Given the description of an element on the screen output the (x, y) to click on. 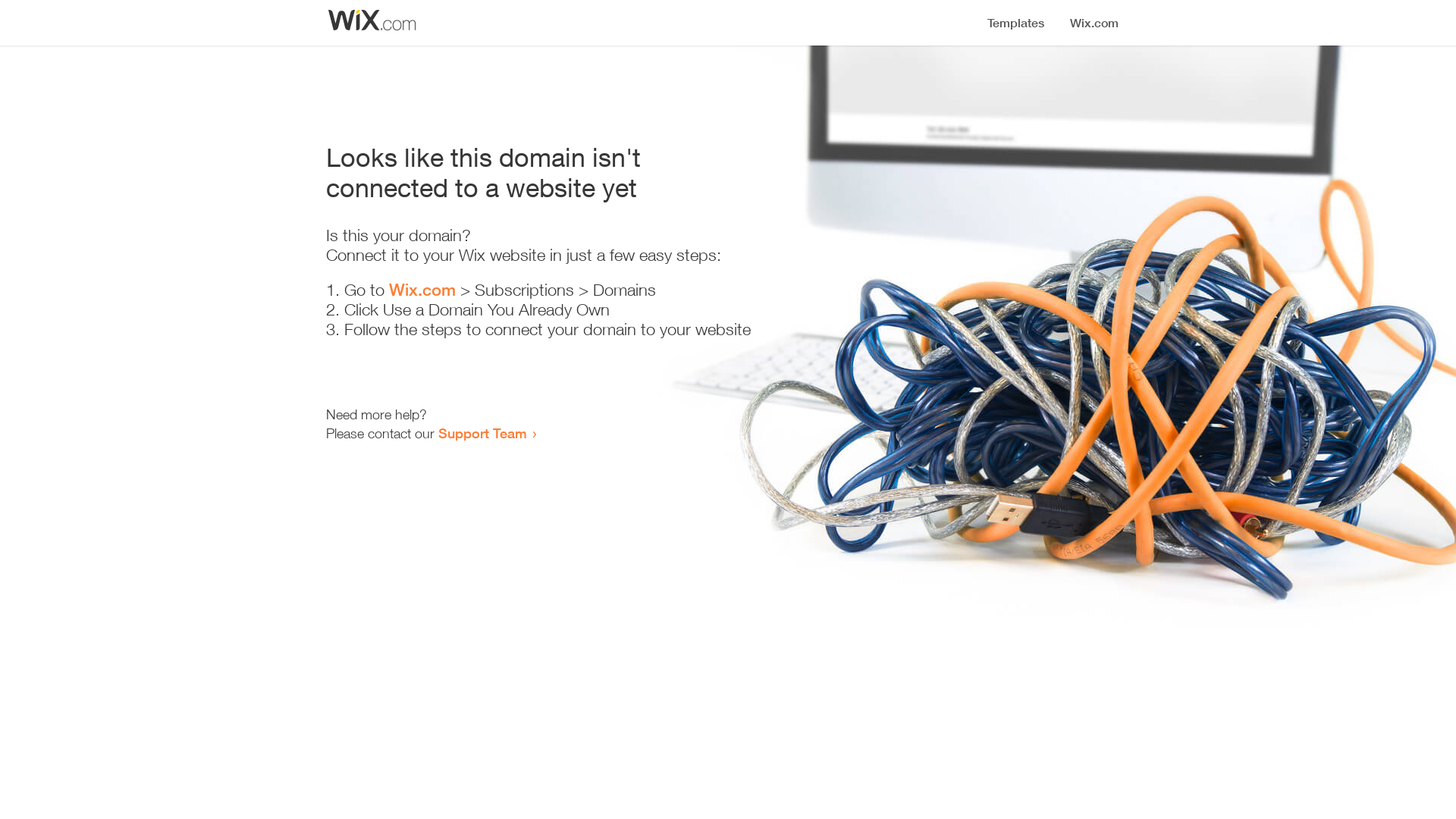
Support Team Element type: text (482, 432)
Wix.com Element type: text (422, 289)
